Given the description of an element on the screen output the (x, y) to click on. 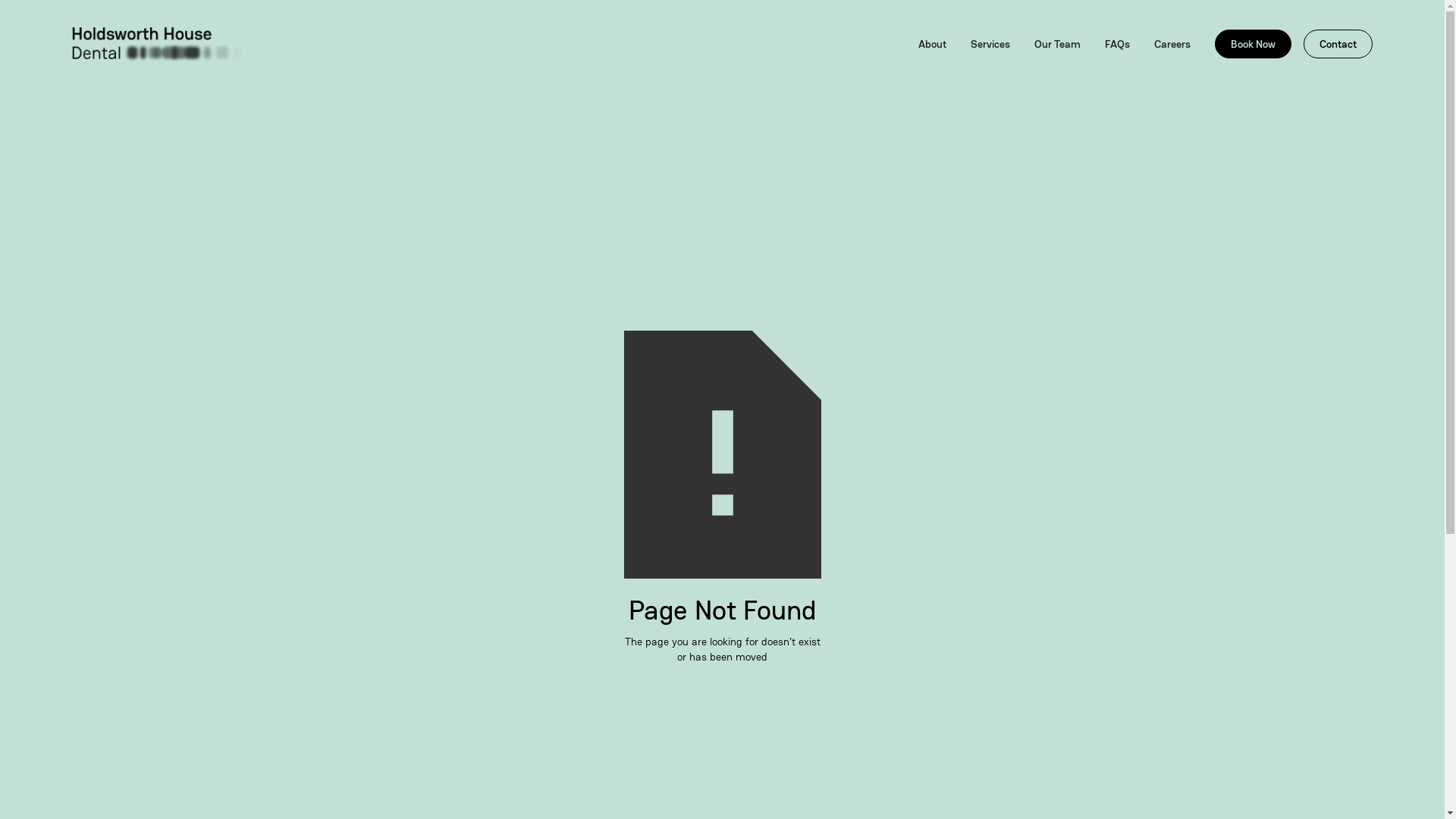
Our Team Element type: text (1057, 43)
Services Element type: text (990, 43)
Contact Element type: text (1337, 43)
Book Now Element type: text (1252, 43)
Careers Element type: text (1172, 43)
About Element type: text (932, 43)
FAQs Element type: text (1117, 43)
